Given the description of an element on the screen output the (x, y) to click on. 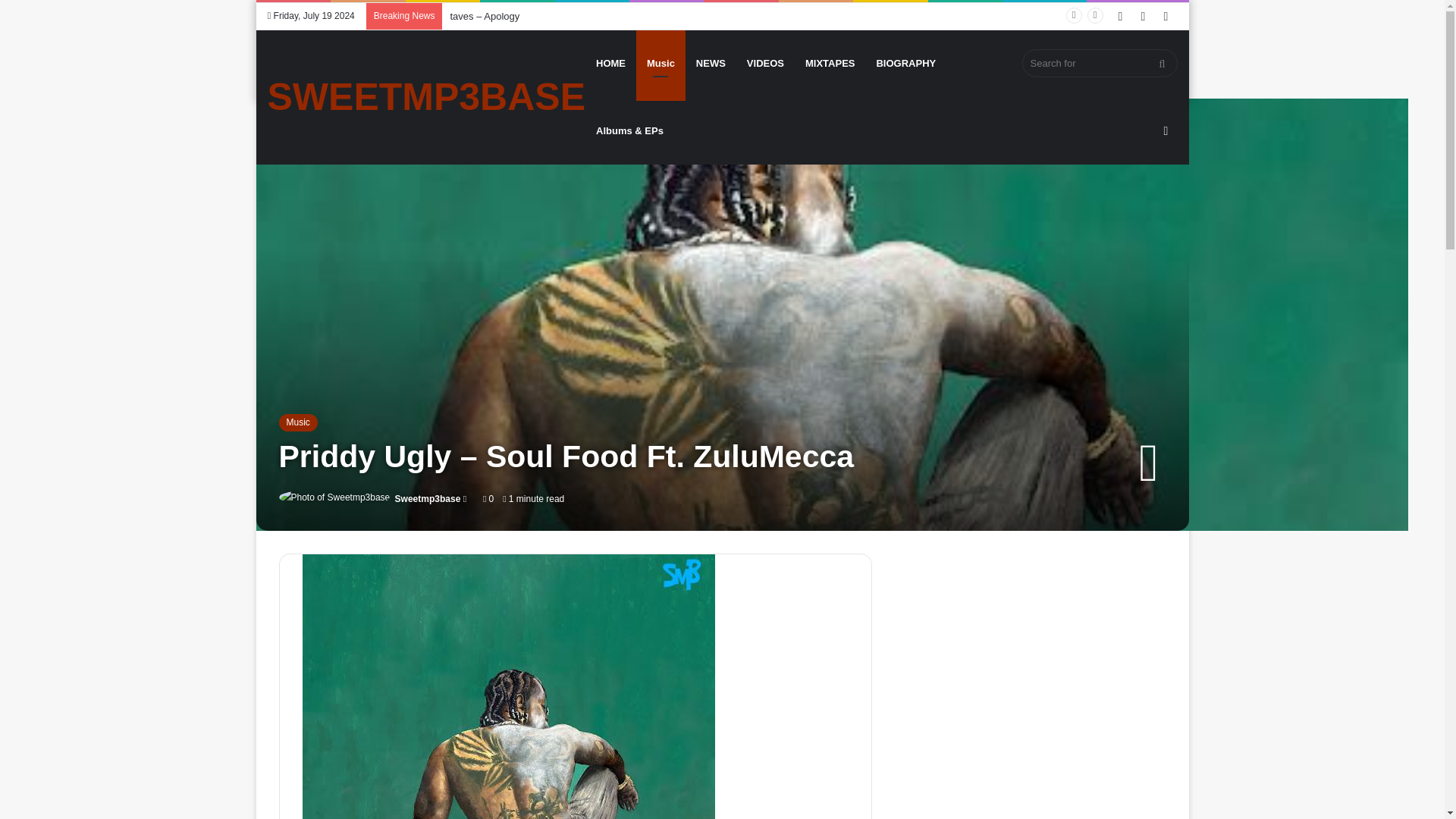
Sweetmp3base (427, 498)
Music (298, 422)
SWEETMP3BASE  (425, 96)
SWEETMP3BASE (425, 96)
Search for (1099, 62)
Music (330, 129)
BIOGRAPHY (905, 63)
MIXTAPES (830, 63)
Home (295, 129)
Sweetmp3base (427, 498)
